Given the description of an element on the screen output the (x, y) to click on. 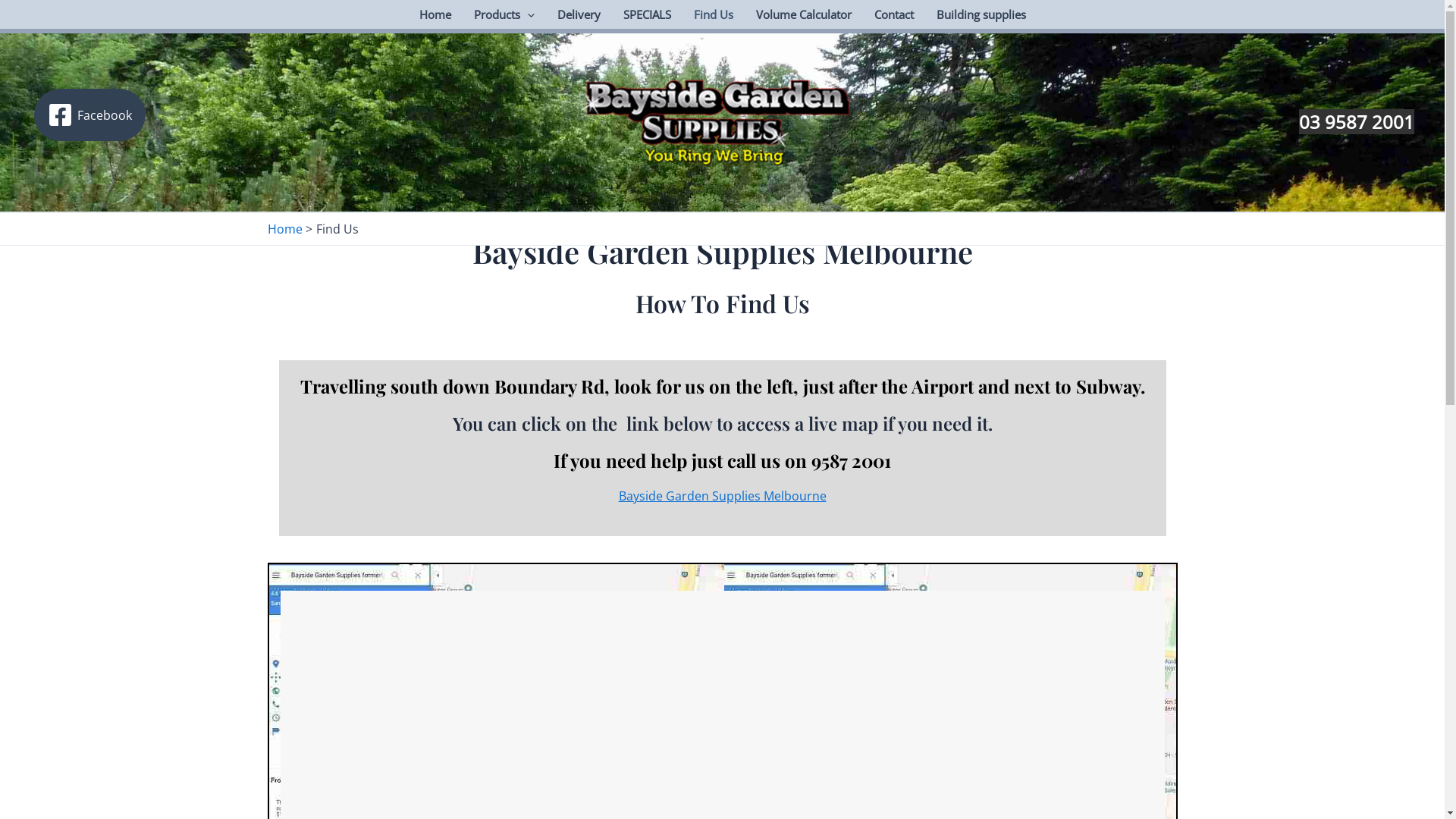
Facebook Element type: text (89, 114)
Find Us Element type: text (713, 14)
Home Element type: text (434, 14)
Volume Calculator Element type: text (803, 14)
SPECIALS Element type: text (646, 14)
Home Element type: text (283, 228)
Contact Element type: text (893, 14)
Products Element type: text (504, 14)
Building supplies Element type: text (981, 14)
Delivery Element type: text (578, 14)
Bayside Garden Supplies Melbourne Element type: text (722, 495)
